Given the description of an element on the screen output the (x, y) to click on. 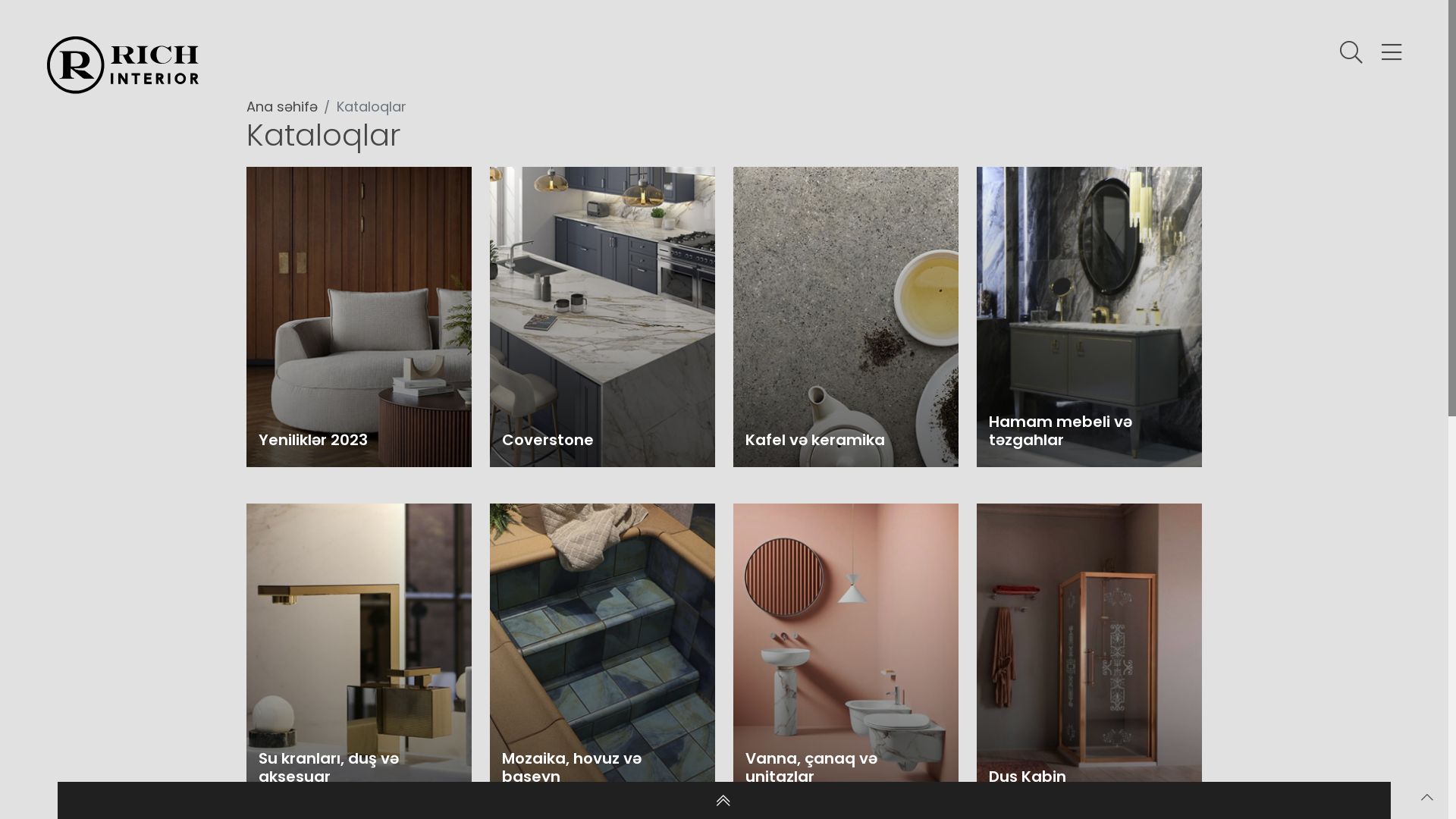
Coverstone Element type: text (602, 316)
